Given the description of an element on the screen output the (x, y) to click on. 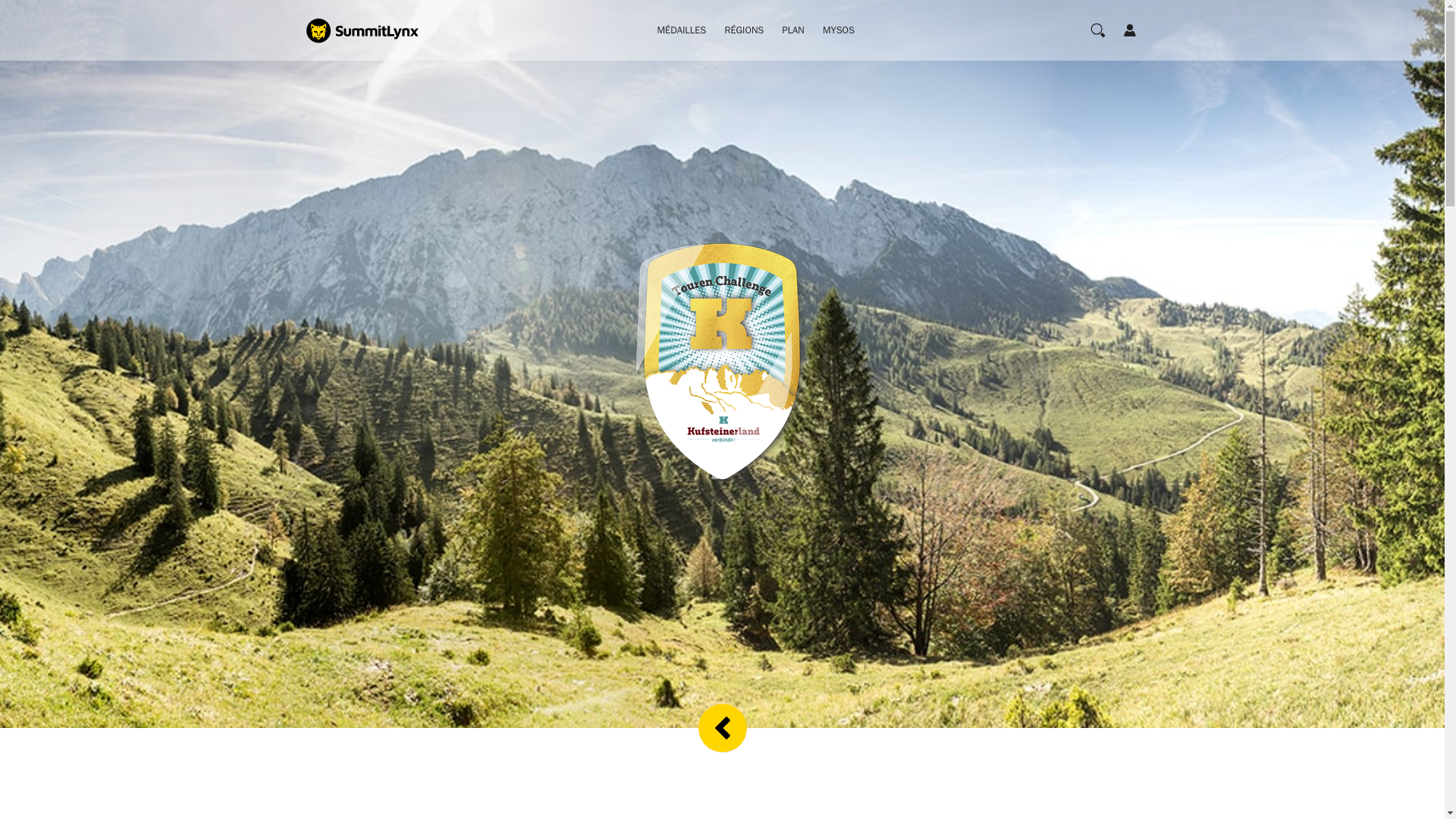
MYSOS (838, 29)
SummitLynx (365, 30)
SummitLynx Accueil (365, 30)
PLAN (792, 29)
